Given the description of an element on the screen output the (x, y) to click on. 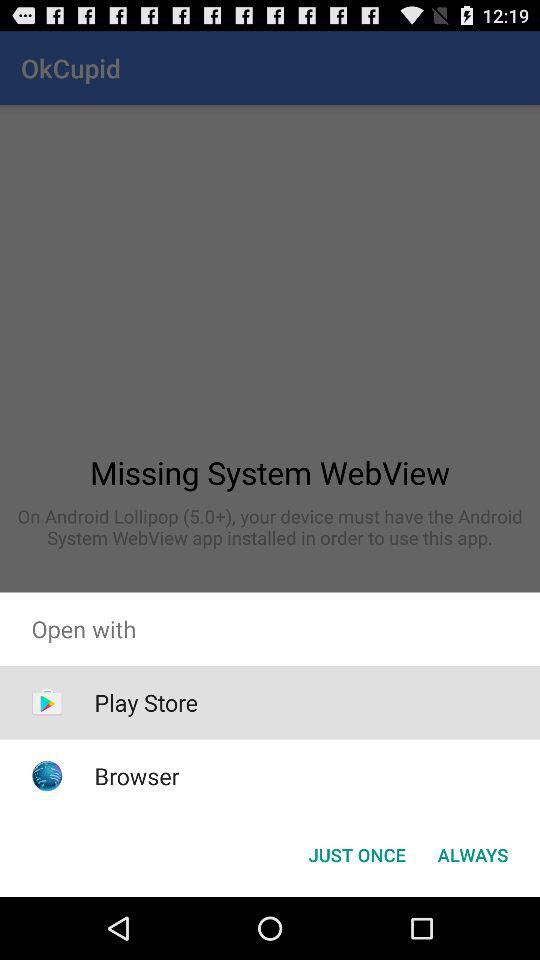
tap item below the play store icon (136, 775)
